Given the description of an element on the screen output the (x, y) to click on. 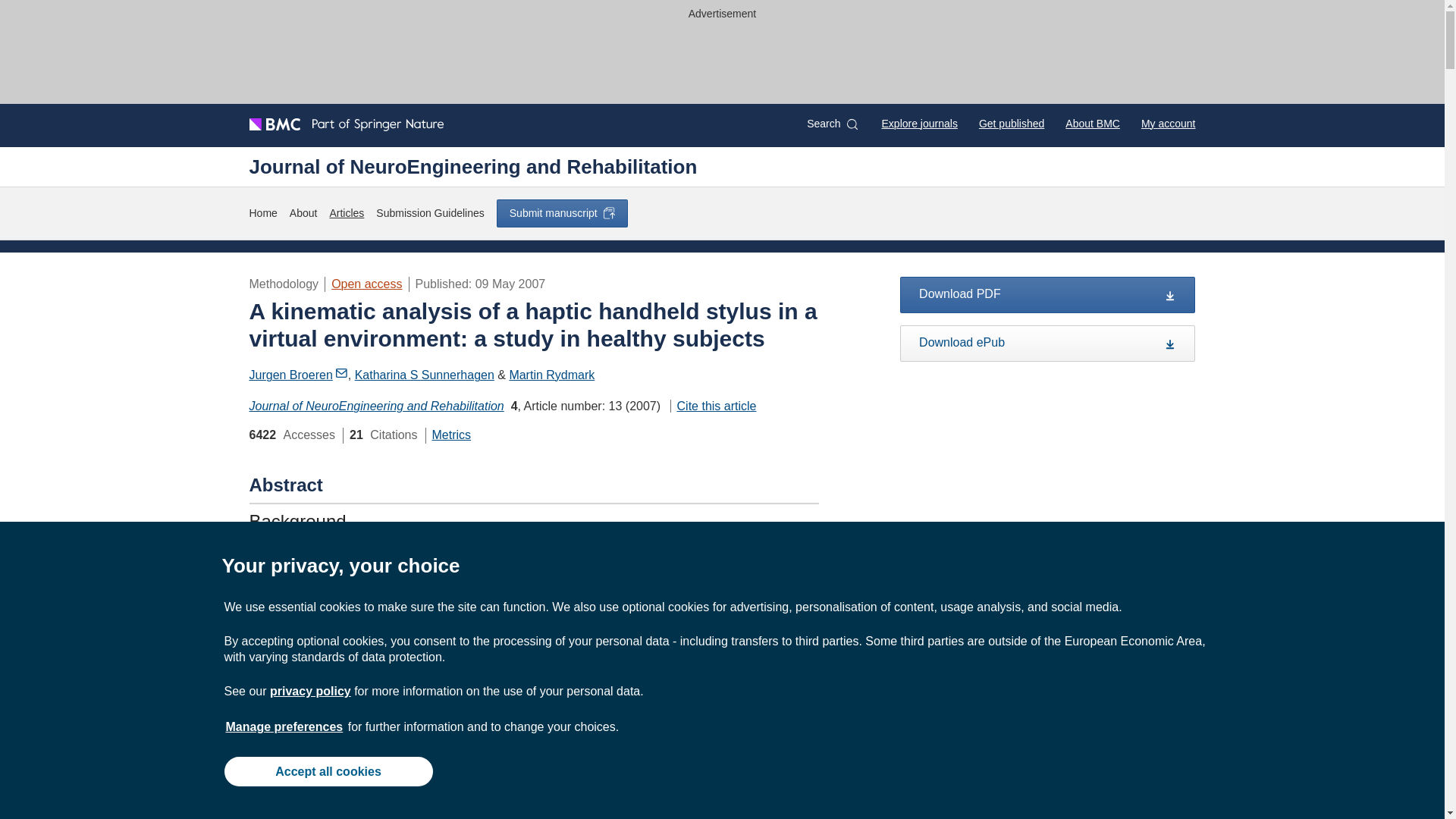
My account (1168, 123)
Home (262, 212)
Jurgen Broeren (297, 374)
Submission Guidelines (429, 212)
Submit manuscript (561, 212)
About (303, 212)
Articles (346, 212)
About BMC (1092, 123)
Metrics (451, 434)
Open access (366, 283)
Get published (1010, 123)
Journal of NeuroEngineering and Rehabilitation (472, 166)
Martin Rydmark (551, 374)
Cite this article (713, 405)
Search (831, 123)
